Given the description of an element on the screen output the (x, y) to click on. 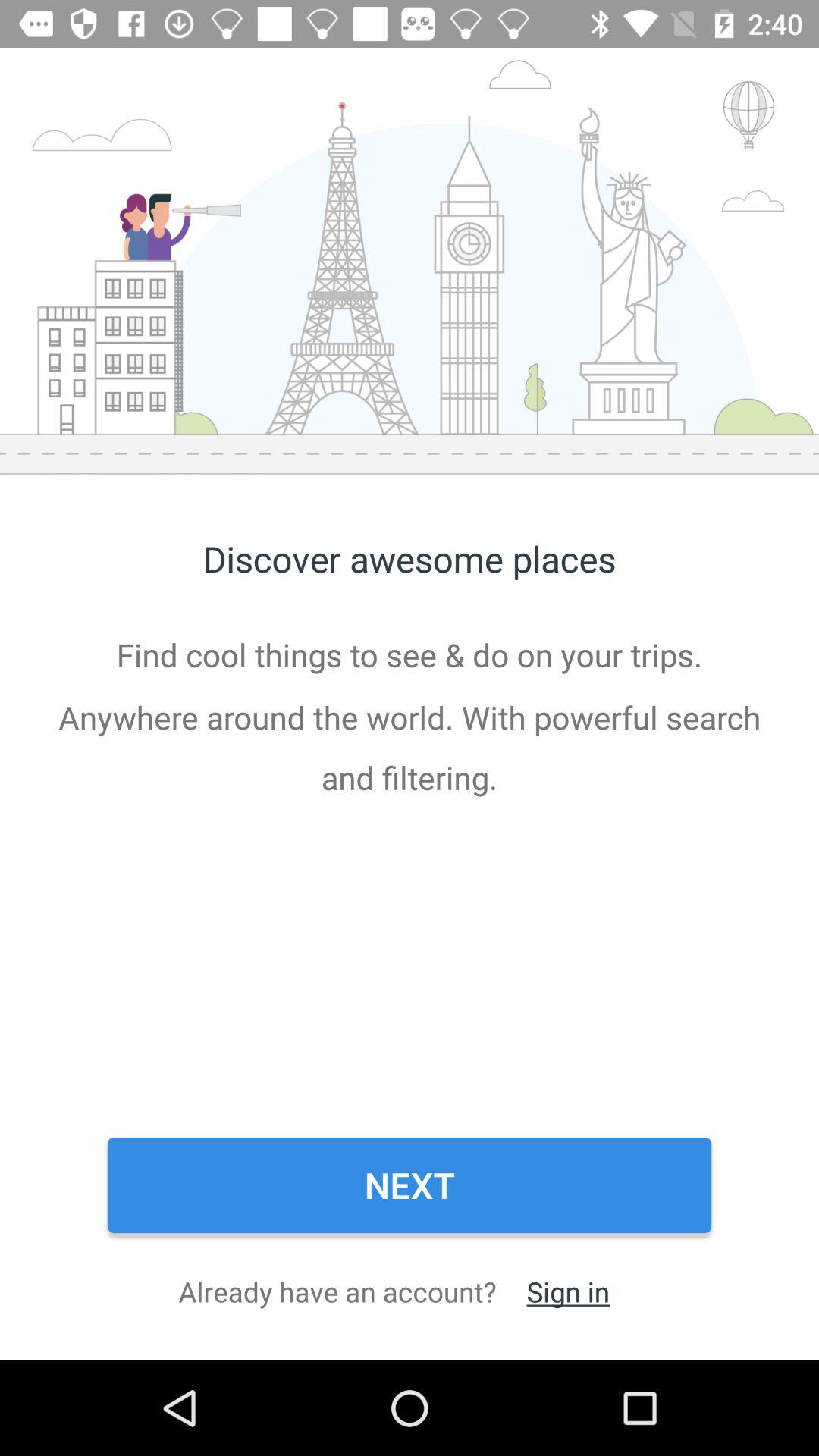
launch next item (409, 1185)
